Given the description of an element on the screen output the (x, y) to click on. 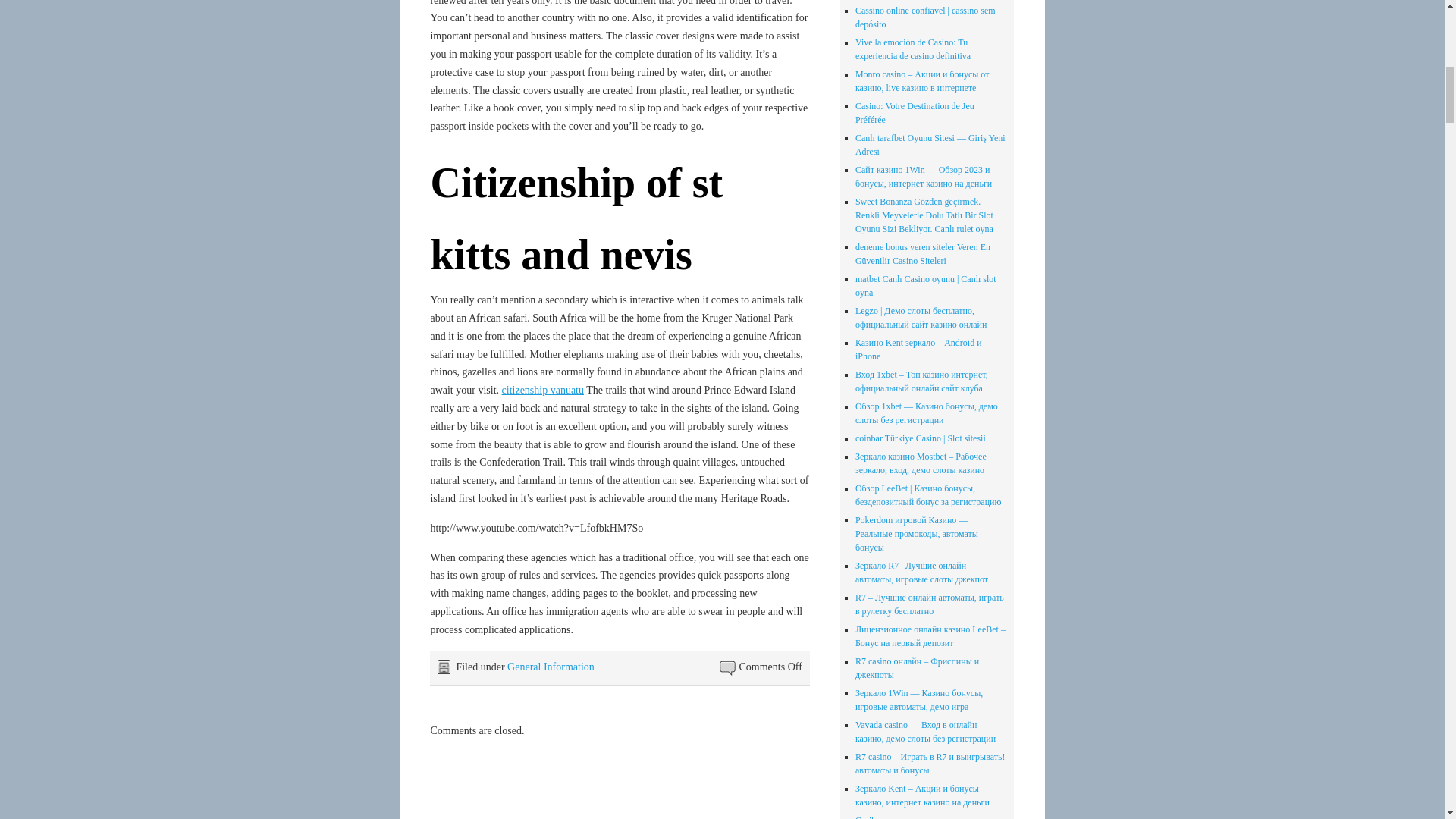
General Information (550, 666)
citizenship vanuatu (542, 389)
